Given the description of an element on the screen output the (x, y) to click on. 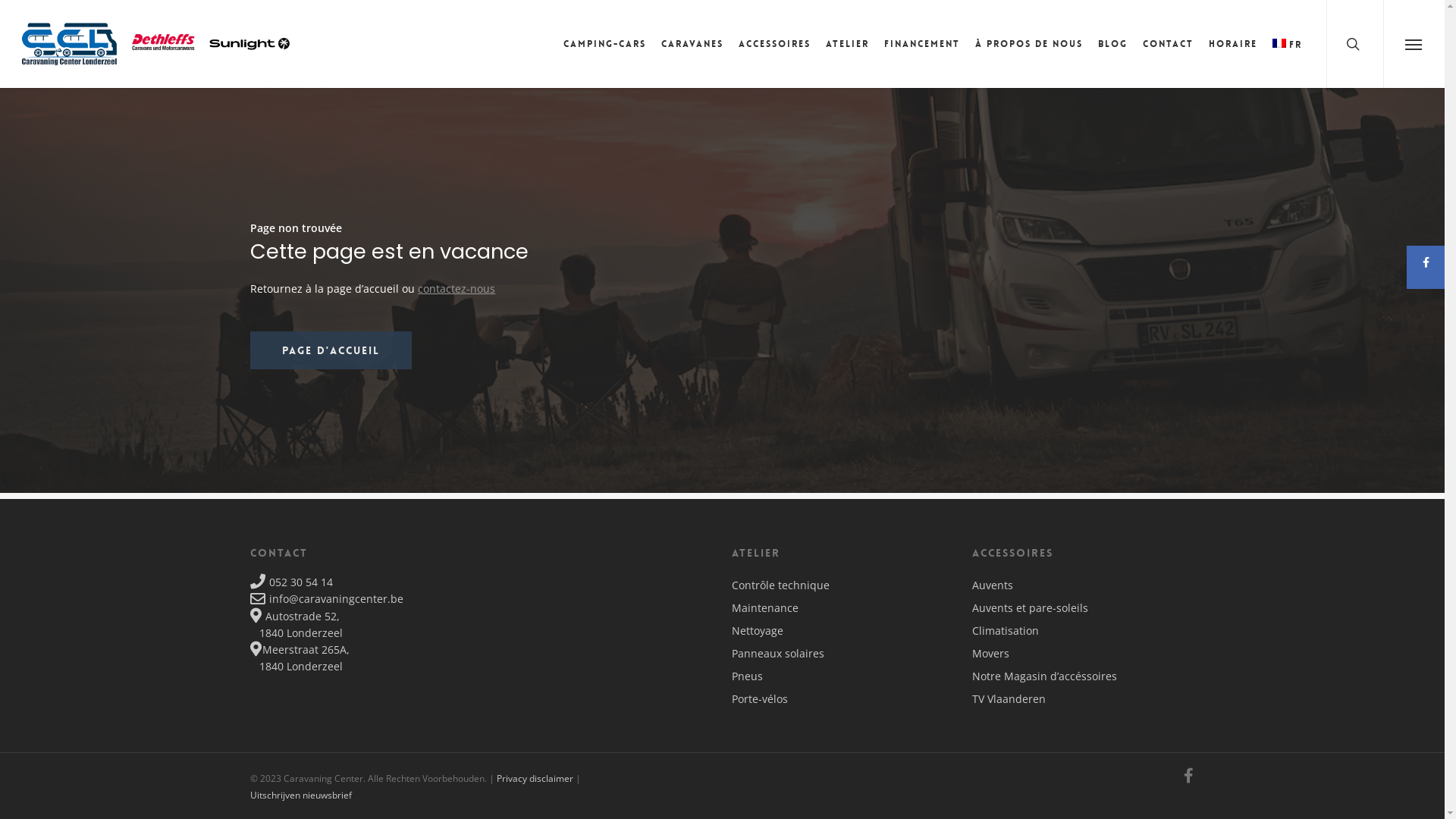
Climatisation Element type: text (1083, 630)
Atelier Element type: text (847, 43)
TV Vlaanderen Element type: text (1083, 698)
Pneus Element type: text (842, 676)
Panneaux solaires Element type: text (842, 653)
Accessoires Element type: text (774, 43)
info@caravaningcenter.be Element type: text (333, 598)
Camping-cars Element type: text (604, 43)
Maintenance Element type: text (842, 607)
Caravanes Element type: text (692, 43)
Horaire Element type: text (1232, 43)
Uitschrijven nieuwsbrief Element type: text (300, 794)
Privacy disclaimer Element type: text (534, 777)
contactez-nous Element type: text (456, 288)
Contact Element type: text (1168, 43)
Page d'accueil Element type: text (330, 350)
Nettoyage Element type: text (842, 630)
Auvents Element type: text (1083, 585)
Financement Element type: text (921, 43)
Blog Element type: text (1112, 43)
Auvents et pare-soleils Element type: text (1083, 607)
FR Element type: text (1286, 43)
Movers Element type: text (1083, 653)
